Given the description of an element on the screen output the (x, y) to click on. 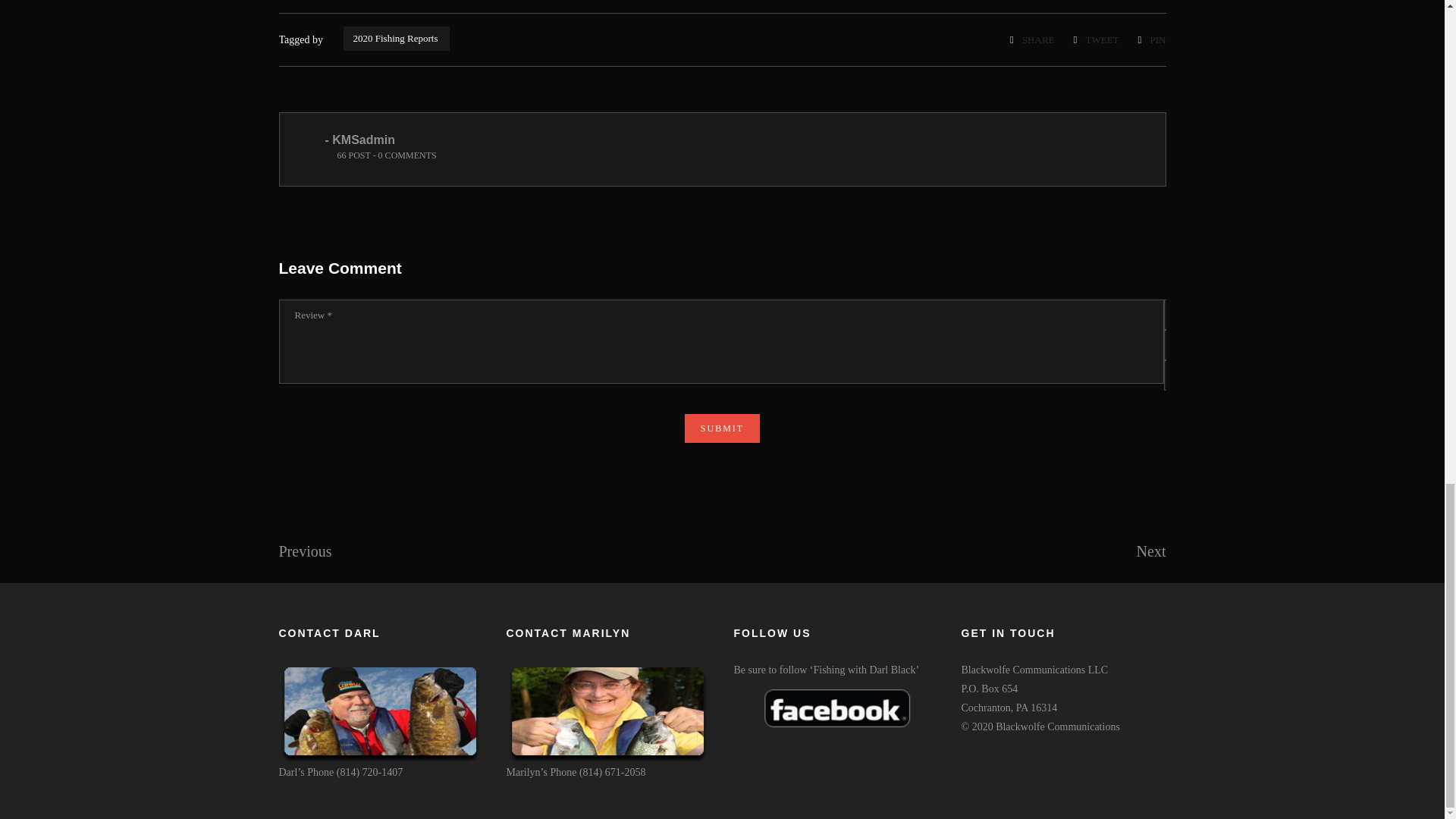
- KMSadmin (359, 139)
Submit (722, 428)
2020 Fishing Reports (396, 38)
Previous (305, 552)
Submit (722, 428)
